Given the description of an element on the screen output the (x, y) to click on. 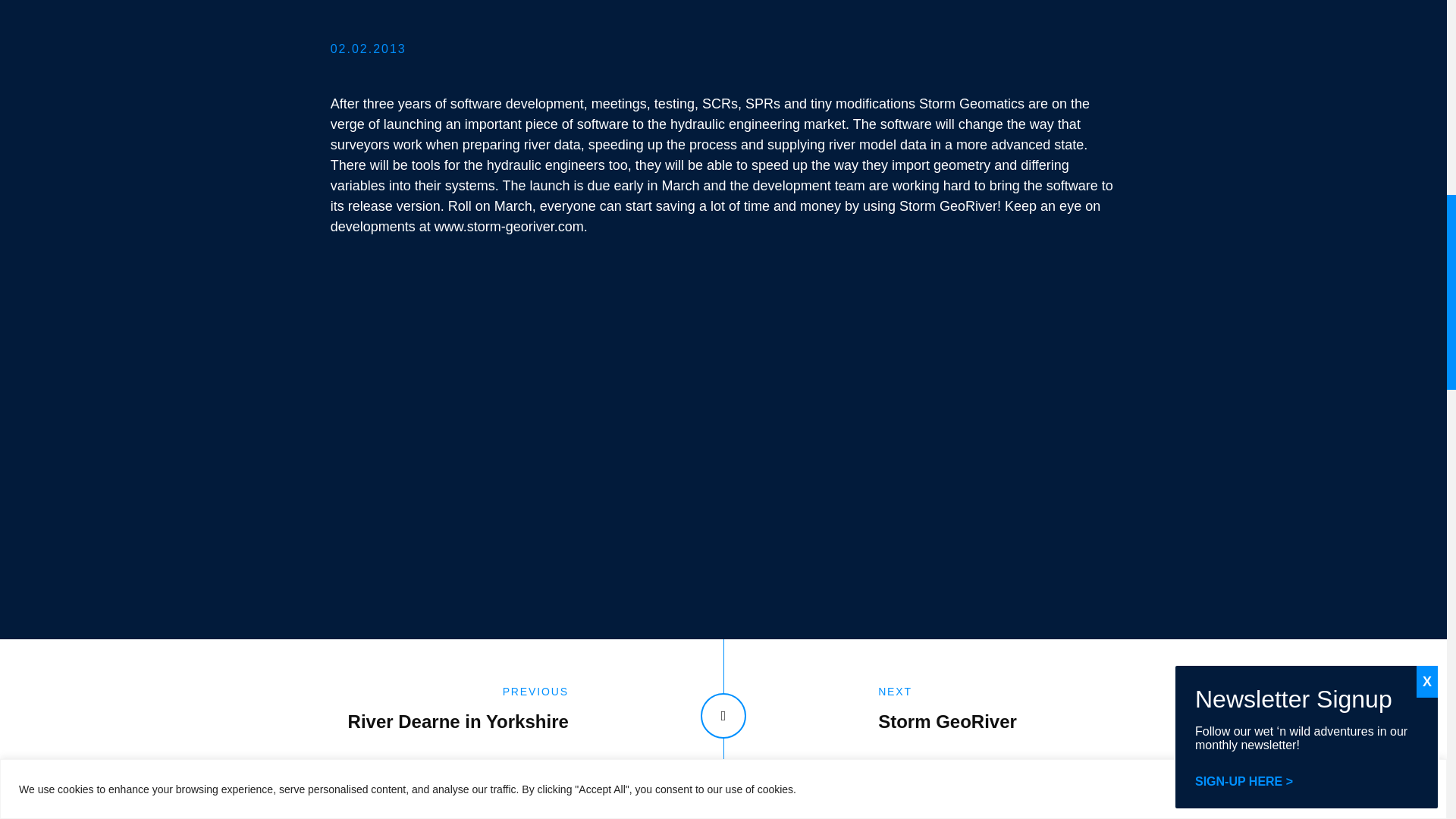
Storm GeoRiver (999, 715)
River Dearne in Yorkshire (446, 715)
